Given the description of an element on the screen output the (x, y) to click on. 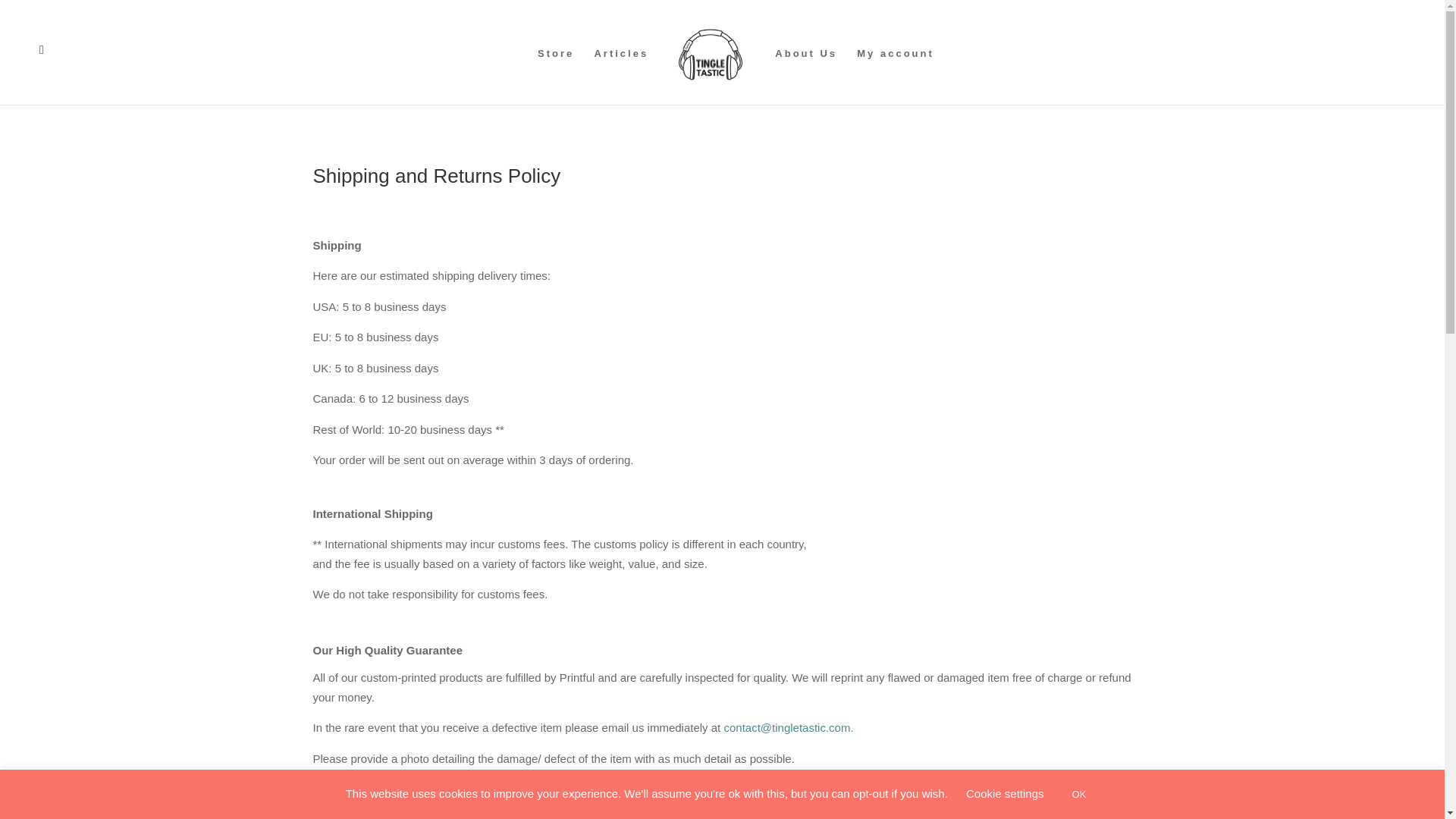
OK (1079, 793)
About Us (805, 76)
Cookie settings (1004, 793)
My account (895, 76)
Articles (620, 76)
